Given the description of an element on the screen output the (x, y) to click on. 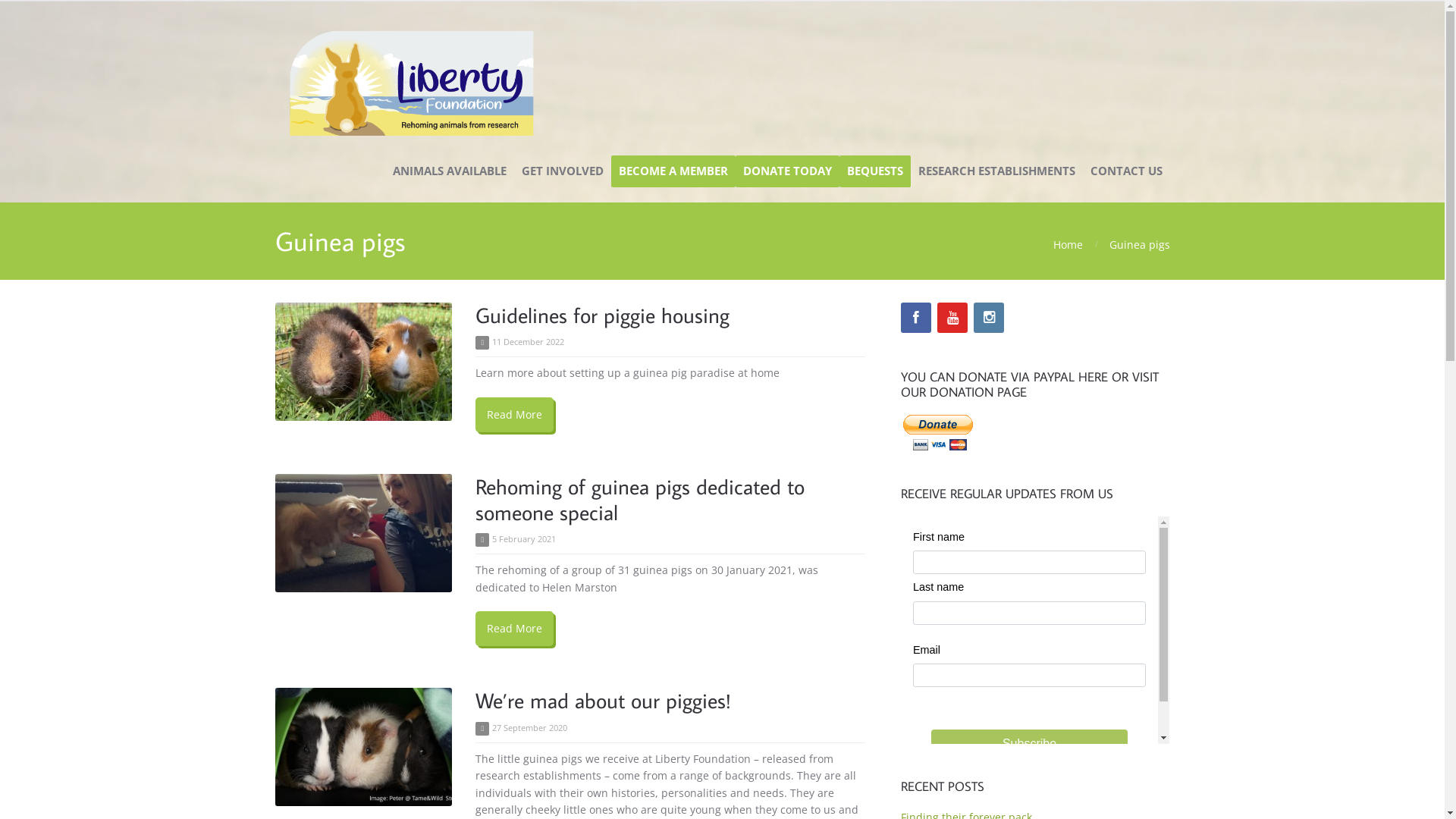
Home Element type: text (1067, 244)
CONTACT US Element type: text (1126, 171)
Read More Element type: text (514, 414)
GET INVOLVED Element type: text (562, 171)
BECOME A MEMBER Element type: text (673, 171)
PayPal - The safer, easier way to pay online! Element type: hover (937, 432)
DONATE TODAY Element type: text (787, 171)
Go to Rehoming of guinea pigs dedicated to someone special Element type: hover (362, 532)
ANIMALS AVAILABLE Element type: text (449, 171)
RESEARCH ESTABLISHMENTS Element type: text (996, 171)
Instagram Element type: hover (988, 317)
BEQUESTS Element type: text (874, 171)
Facebook Element type: hover (915, 317)
Read More Element type: text (514, 628)
Rehoming of guinea pigs dedicated to someone special Element type: text (639, 499)
YouTube Element type: hover (952, 317)
Guinea pigs Element type: text (1138, 244)
